Given the description of an element on the screen output the (x, y) to click on. 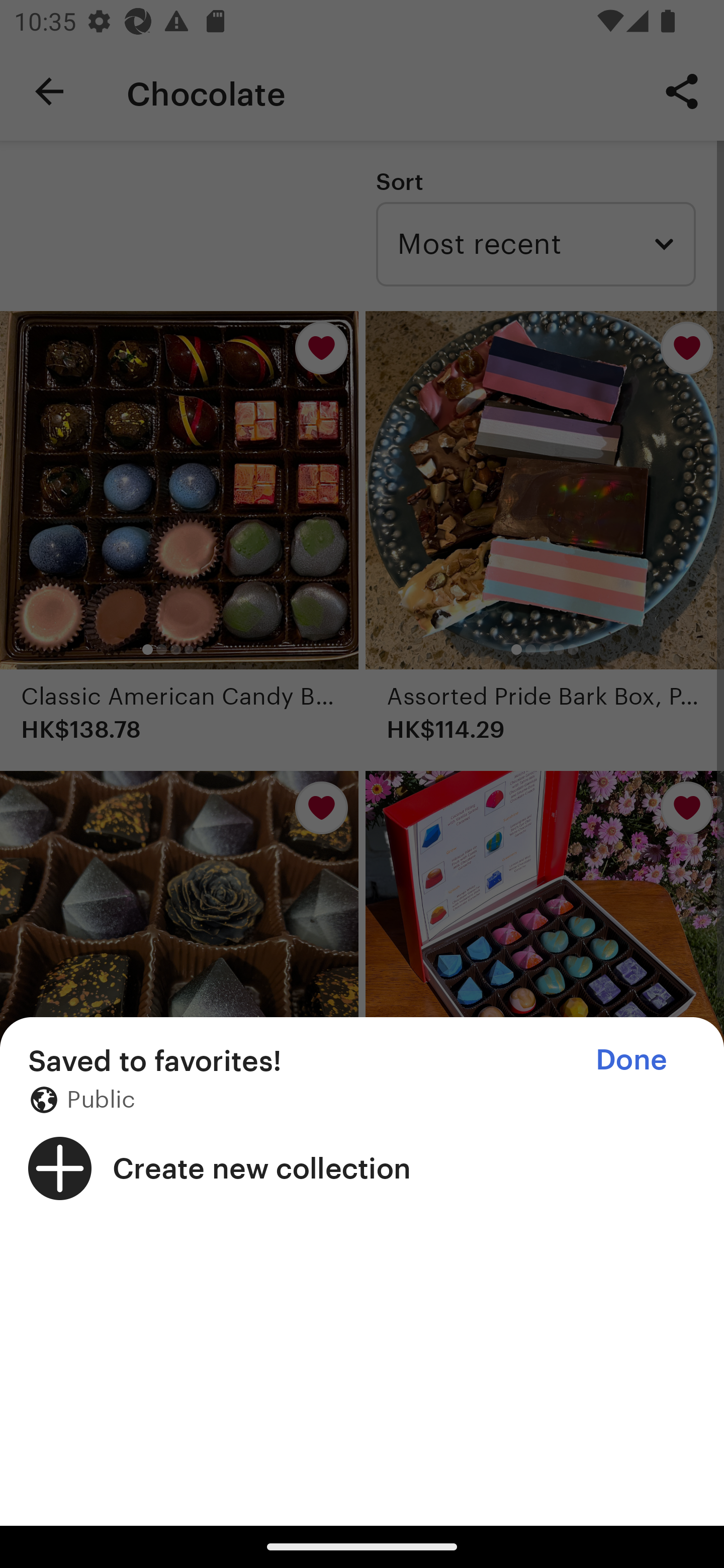
Done (630, 1059)
Create new collection (361, 1167)
